Given the description of an element on the screen output the (x, y) to click on. 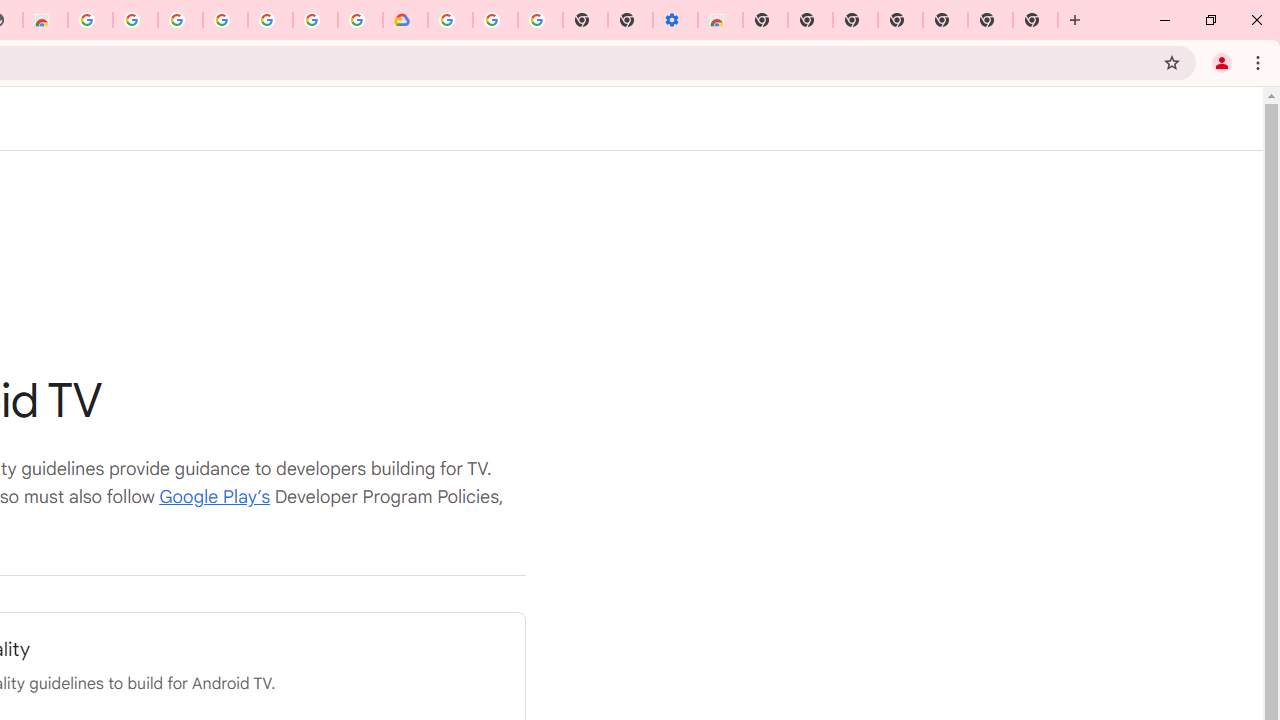
Turn cookies on or off - Computer - Google Account Help (540, 20)
New Tab (1035, 20)
New Tab (944, 20)
Settings - Accessibility (674, 20)
Sign in - Google Accounts (180, 20)
Google Account Help (495, 20)
